Given the description of an element on the screen output the (x, y) to click on. 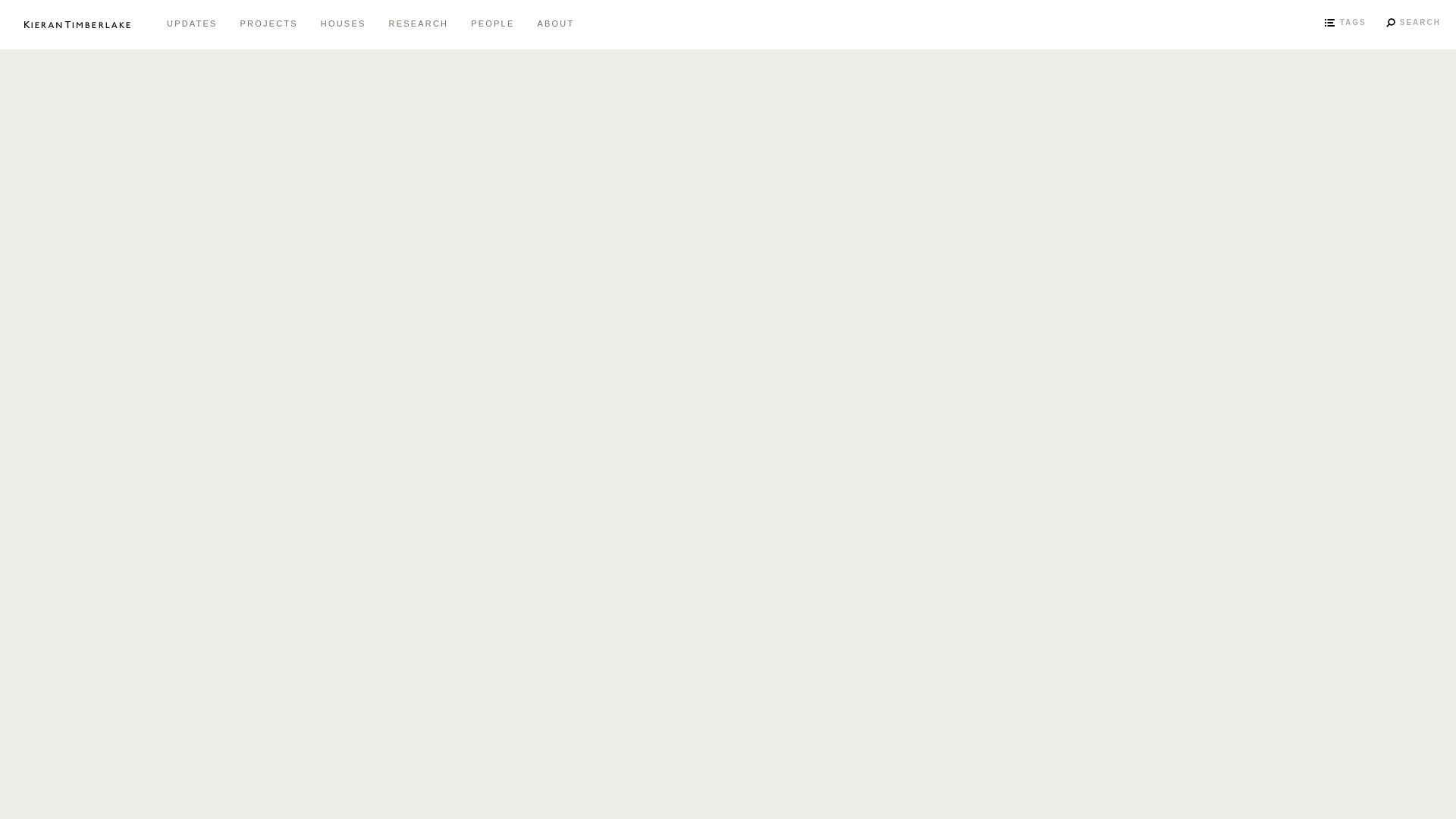
Research (418, 24)
Updates (191, 24)
KIERAN TIMBERLAKE (84, 24)
RESEARCH (418, 24)
People (492, 24)
About (555, 24)
HOUSES (342, 24)
PROJECTS (268, 24)
Projects (268, 24)
UPDATES (191, 24)
